Given the description of an element on the screen output the (x, y) to click on. 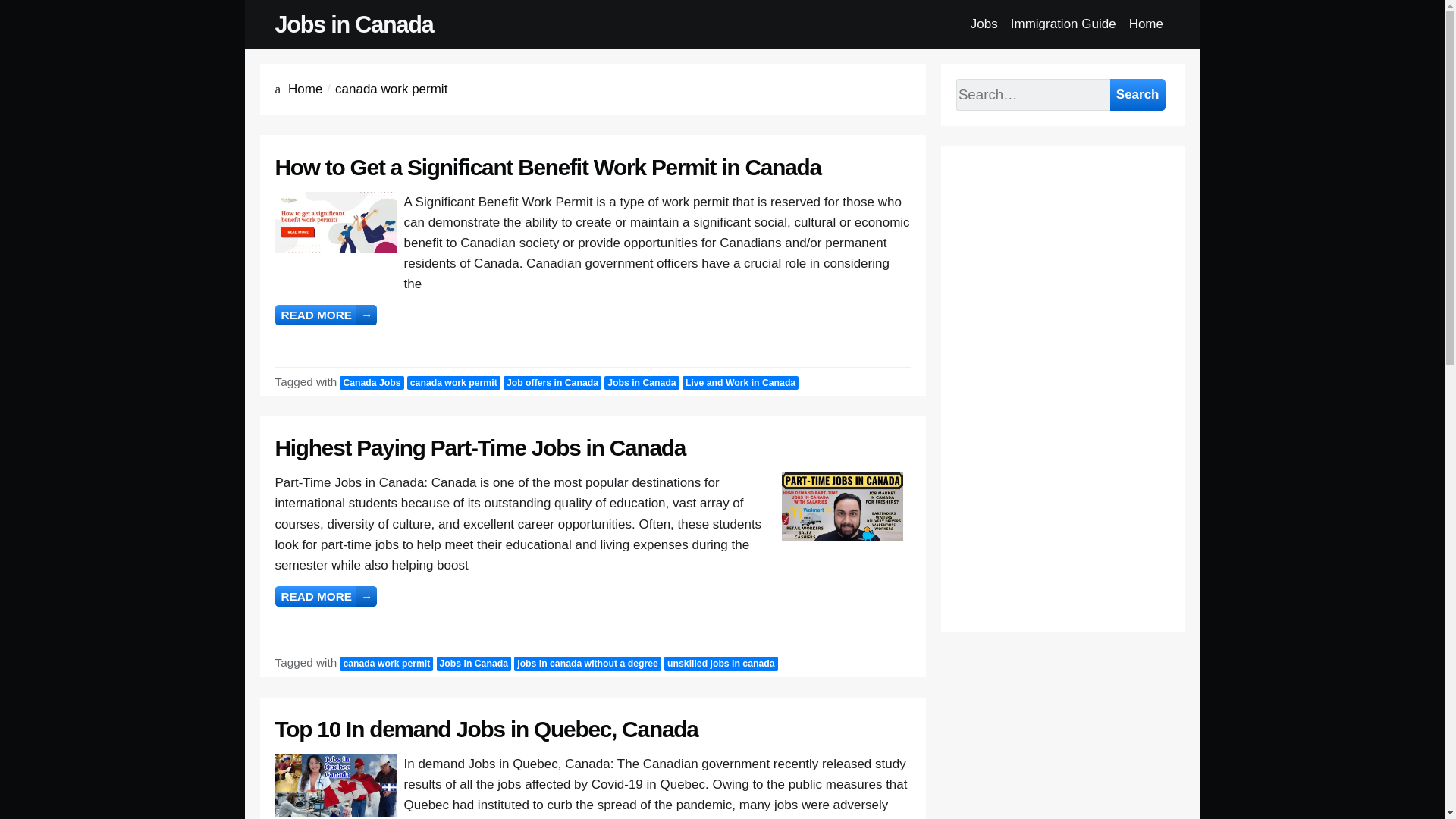
Top 10 In demand Jobs in Quebec, Canada (486, 729)
Live and Work in Canada (739, 382)
Job offers in Canada (552, 382)
Jobs in Canada (353, 23)
Canada Jobs (371, 382)
Immigration Guide (1063, 24)
Jobs in Canada (641, 382)
Jobs in Canada (473, 663)
canada work permit (453, 382)
canada work permit (390, 88)
How to Get a Significant Benefit Work Permit in Canada (548, 166)
Home (304, 88)
canada work permit (385, 663)
Highest Paying Part-Time Jobs in Canada (480, 447)
jobs in canada without a degree (587, 663)
